Given the description of an element on the screen output the (x, y) to click on. 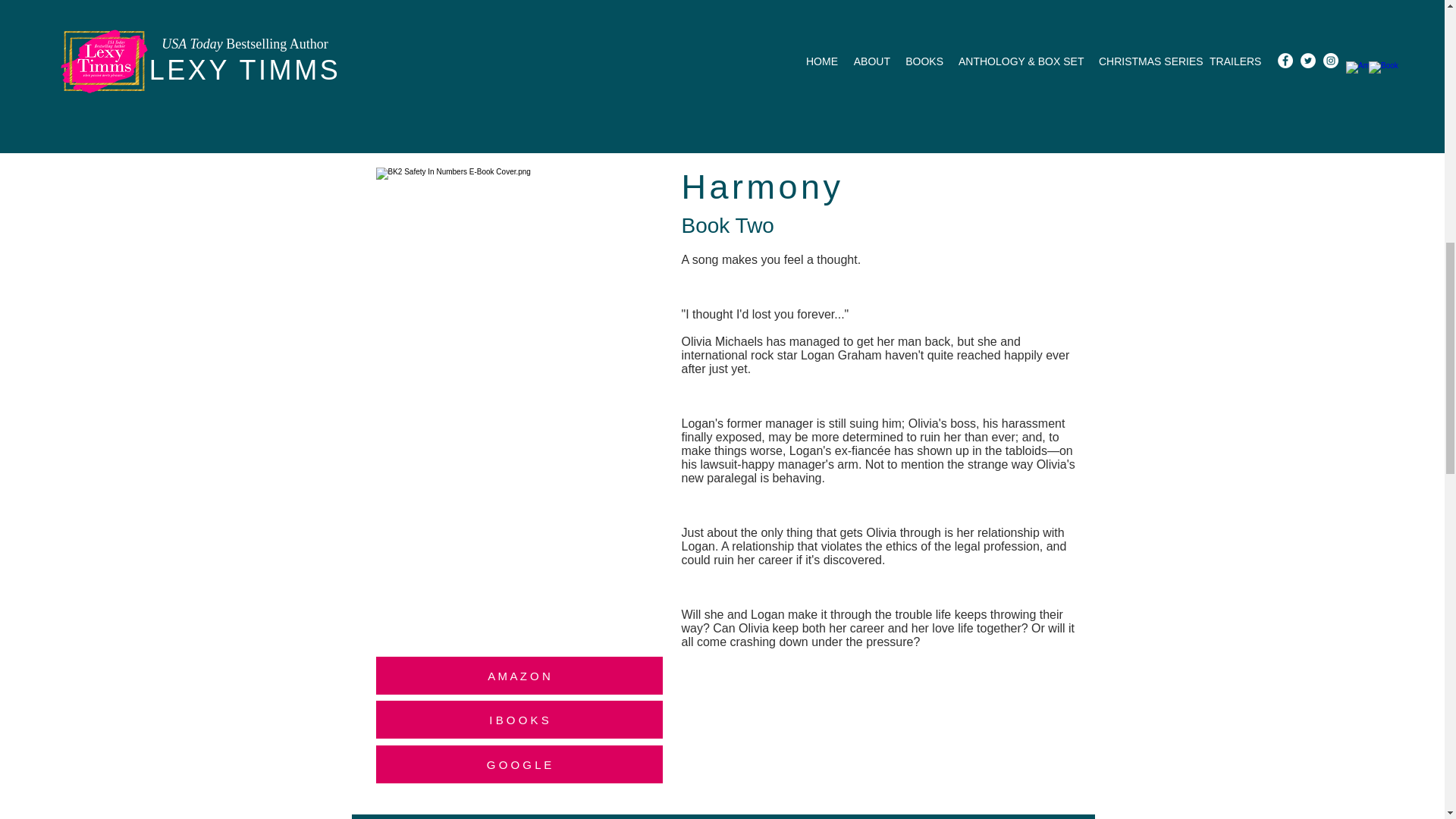
I B O O K S (518, 17)
G O O G L E (518, 59)
G O O G L E (518, 763)
A M A Z O N (518, 675)
I B O O K S (518, 719)
